Given the description of an element on the screen output the (x, y) to click on. 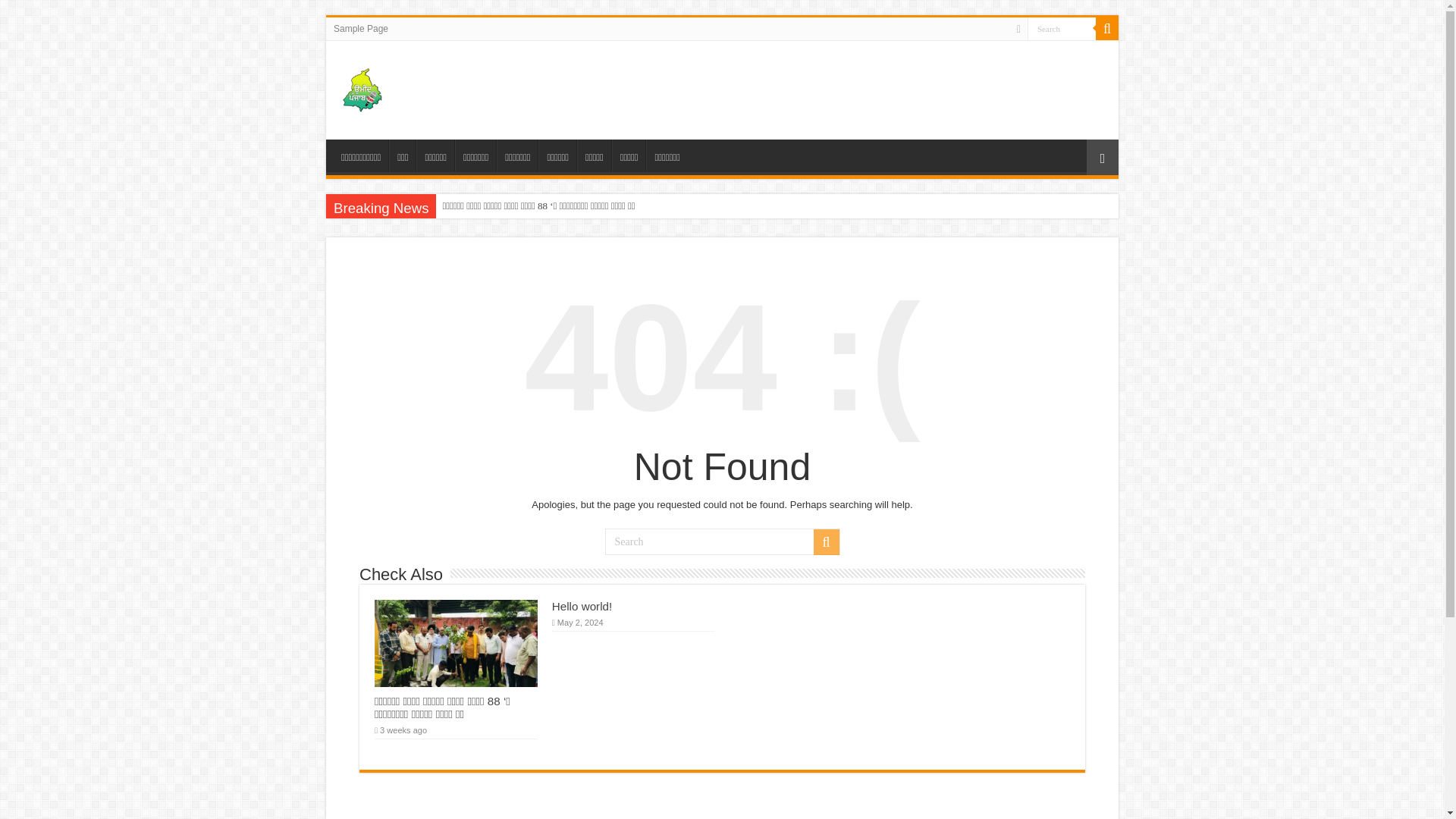
Search (1061, 28)
Search (1061, 28)
Search (722, 541)
Rss (1018, 29)
Umeed Punjab Tv (409, 86)
Sample Page (361, 28)
Search (1107, 28)
Hello world! (581, 605)
Search (825, 542)
Search (1061, 28)
